Given the description of an element on the screen output the (x, y) to click on. 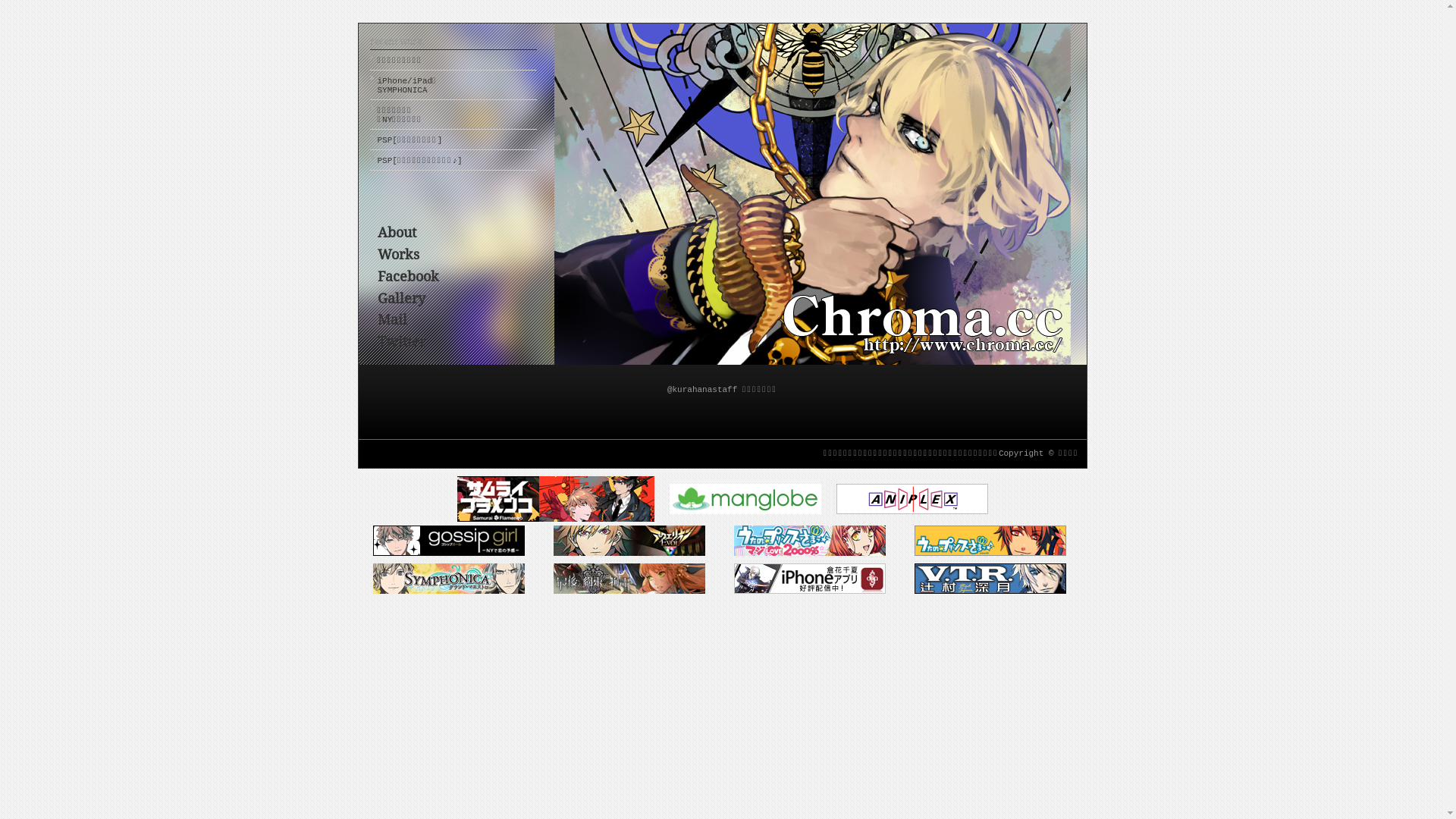
About Element type: text (396, 232)
Facebook Element type: text (408, 276)
Works Element type: text (398, 254)
Gallery Element type: text (401, 298)
Mail Element type: text (392, 319)
Twitter Element type: text (401, 341)
